Given the description of an element on the screen output the (x, y) to click on. 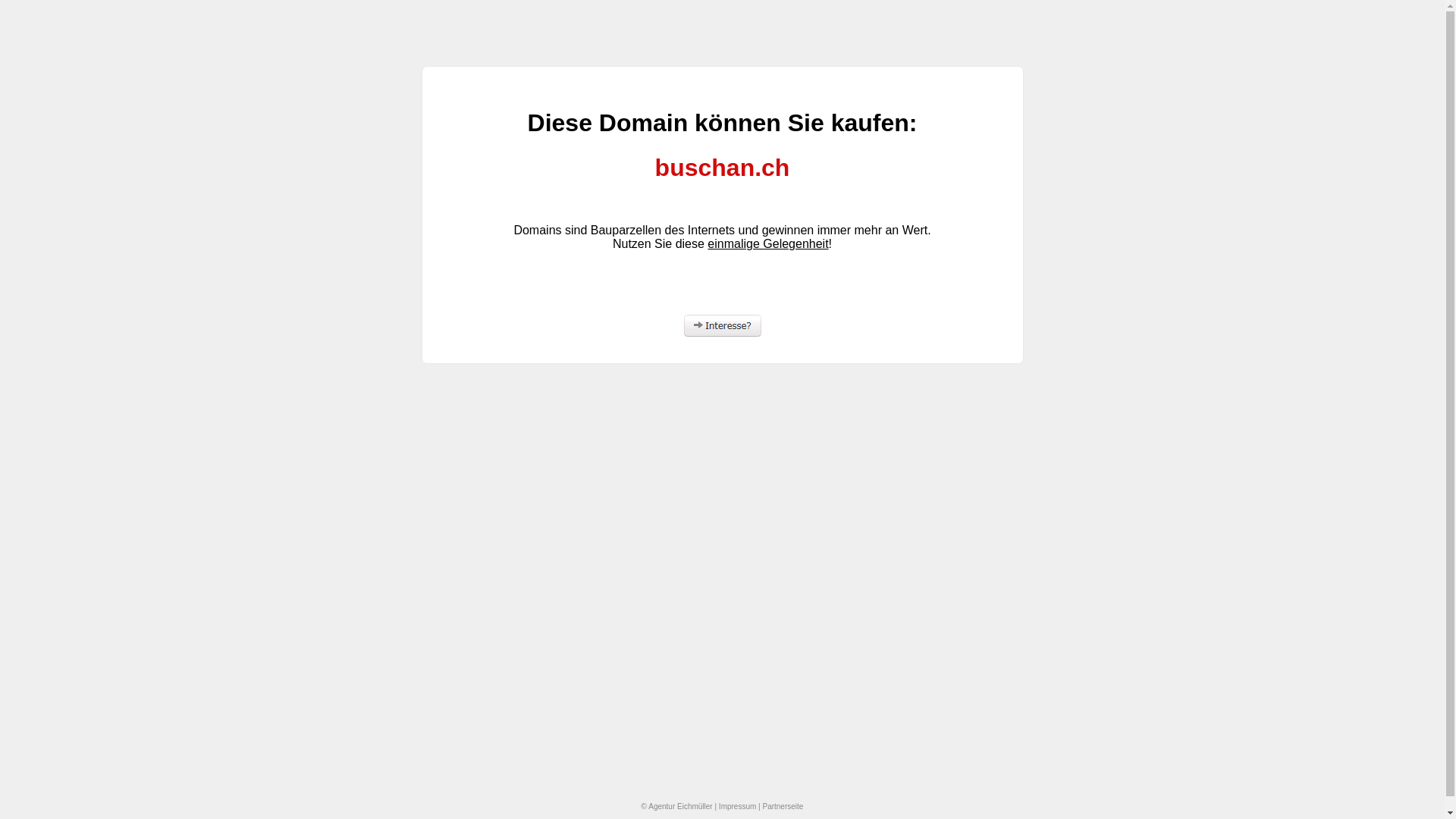
Impressum Element type: text (737, 806)
Partnerseite Element type: text (782, 806)
buschan.ch Element type: text (721, 167)
